Given the description of an element on the screen output the (x, y) to click on. 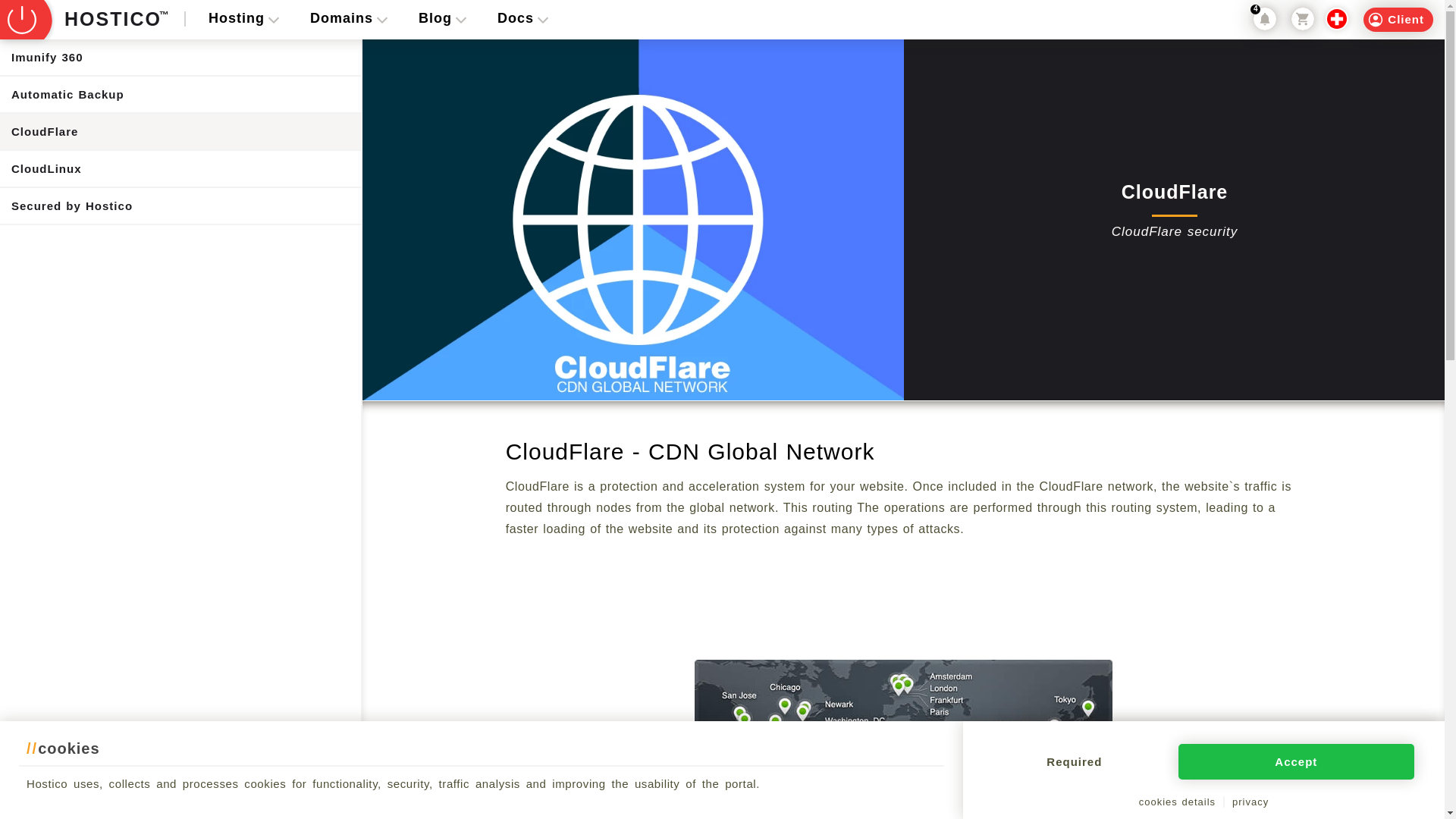
Secured by Hostico (180, 205)
Client (1397, 19)
Imunify 360 (180, 57)
Automatic Backup (180, 94)
CloudFlare (180, 131)
CloudLinux (180, 168)
